Given the description of an element on the screen output the (x, y) to click on. 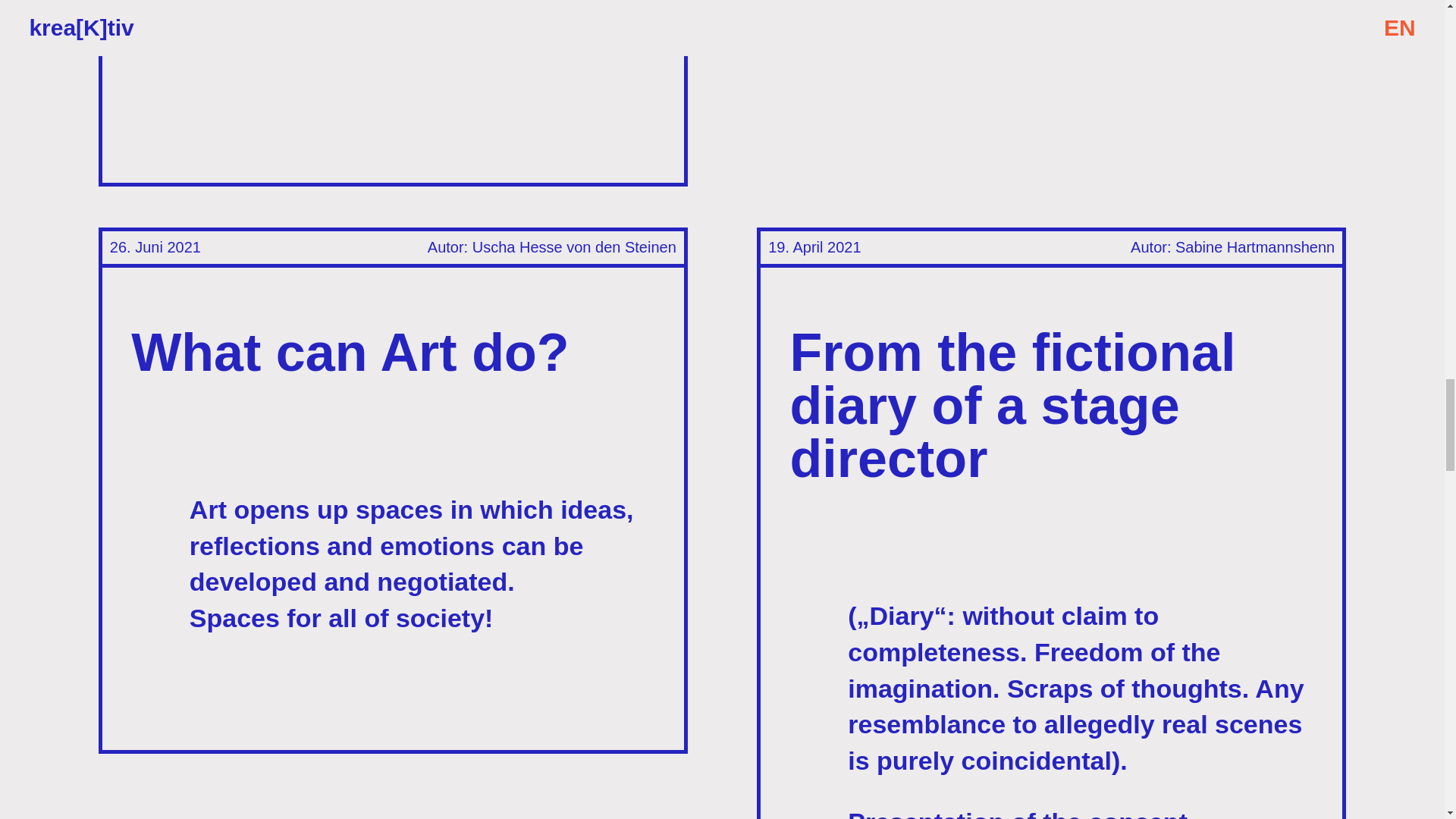
What can Art do? (350, 352)
From the fictional diary of a stage director (1013, 405)
